Given the description of an element on the screen output the (x, y) to click on. 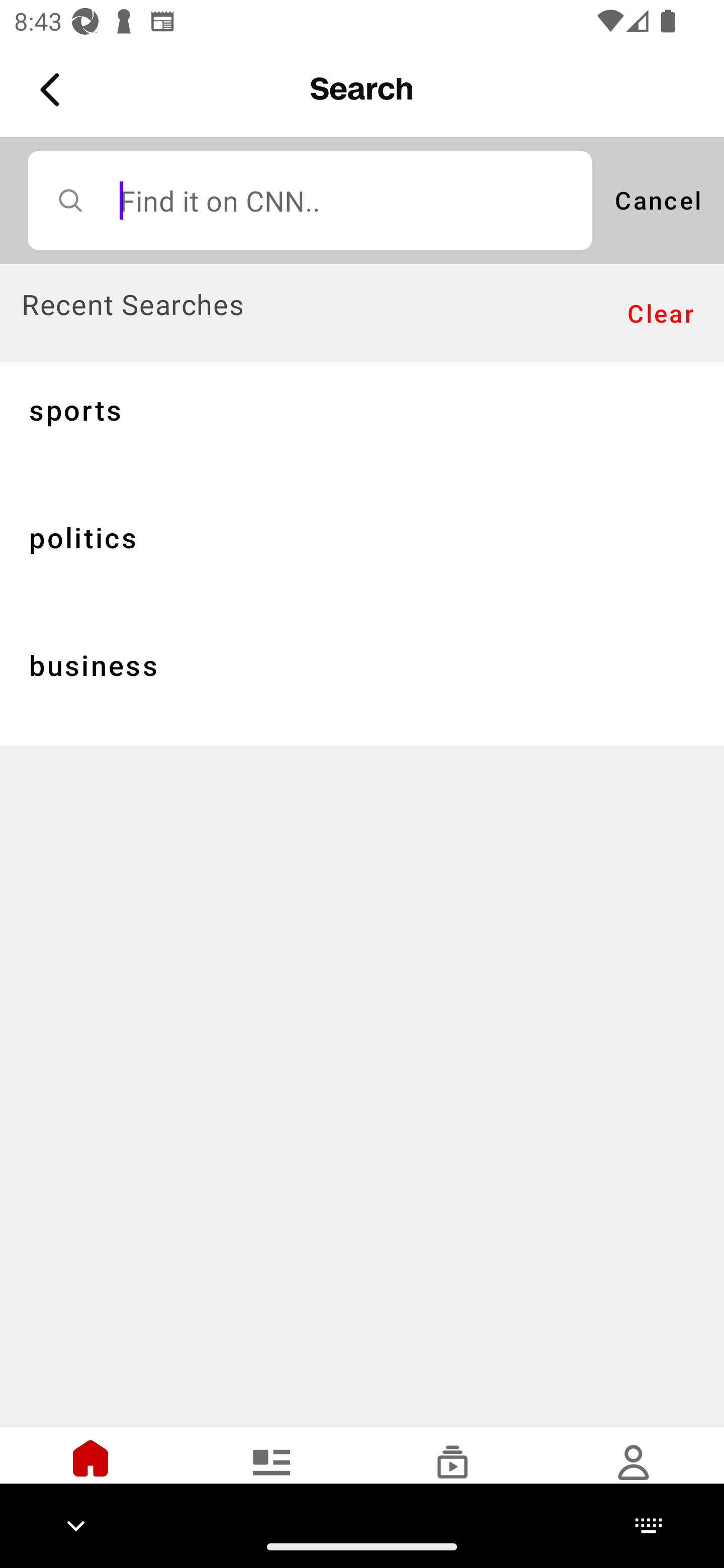
Back Button (52, 89)
Cancel (657, 199)
Find it on CNN.. (309, 199)
Clear (660, 313)
sports
 (362, 425)
politics
 (362, 553)
business
 (362, 680)
Elections (271, 1475)
Watch (452, 1475)
Settings (633, 1475)
